Given the description of an element on the screen output the (x, y) to click on. 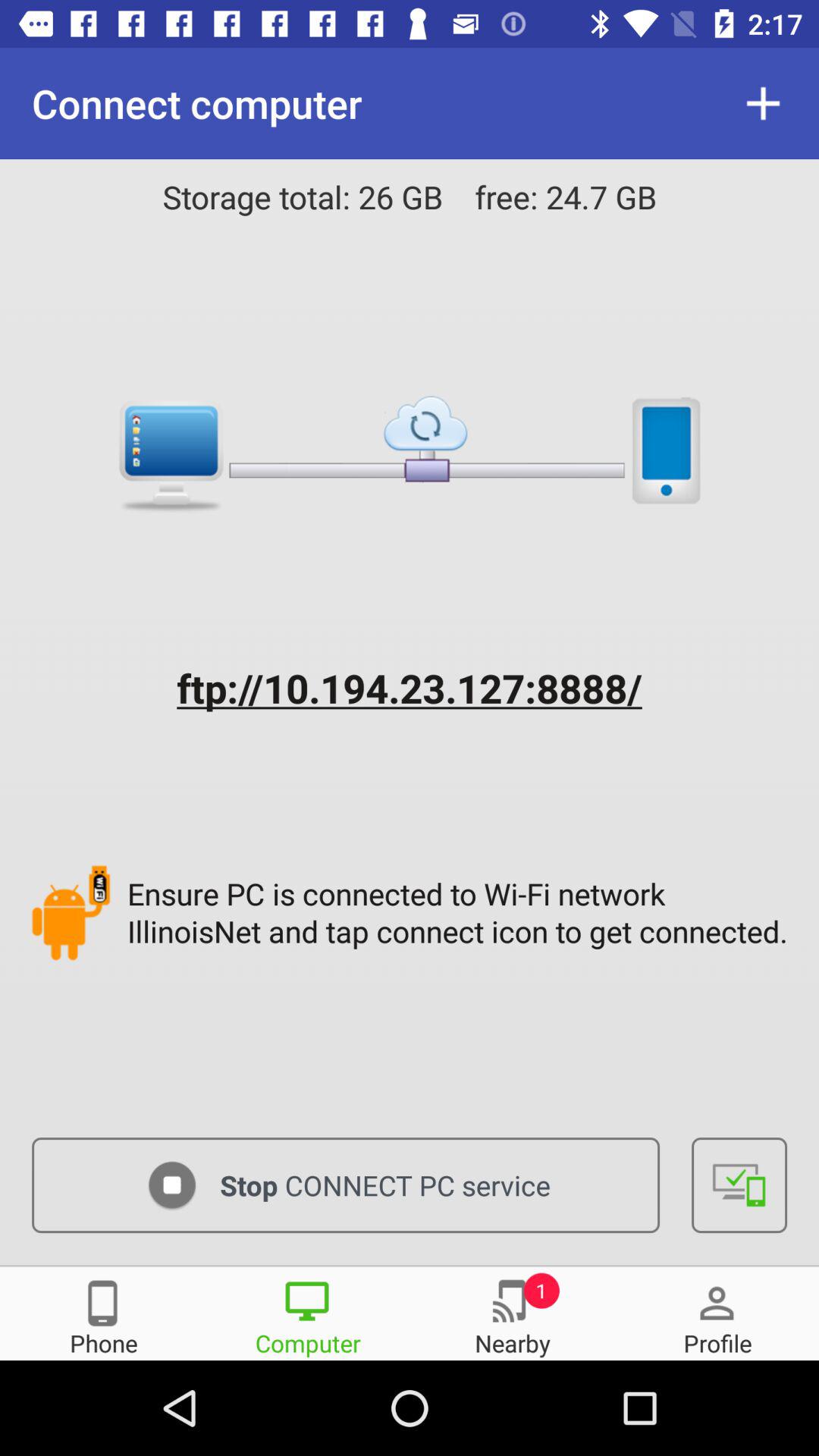
turn off ensure pc is (461, 912)
